Given the description of an element on the screen output the (x, y) to click on. 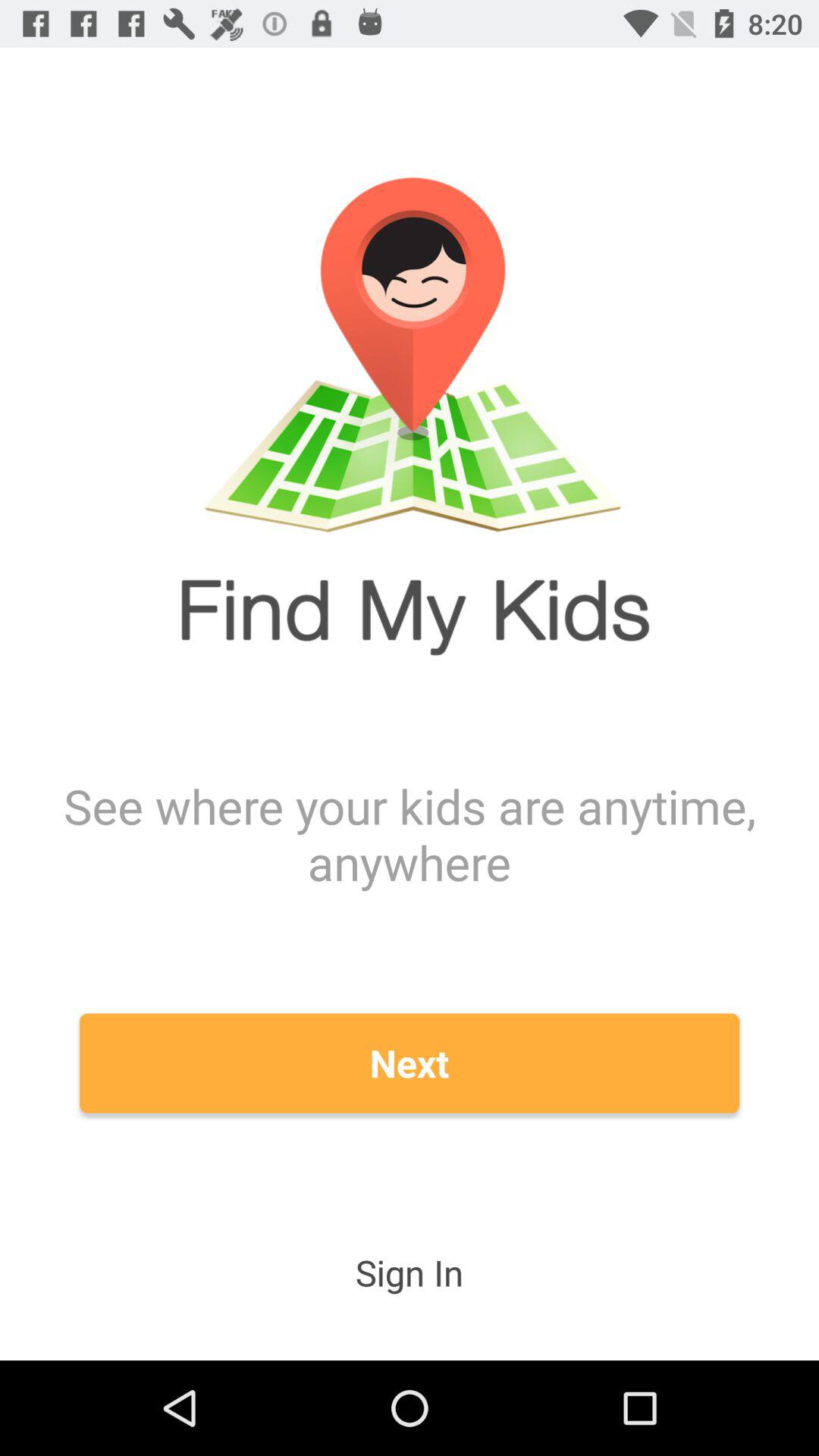
launch next item (409, 1063)
